Given the description of an element on the screen output the (x, y) to click on. 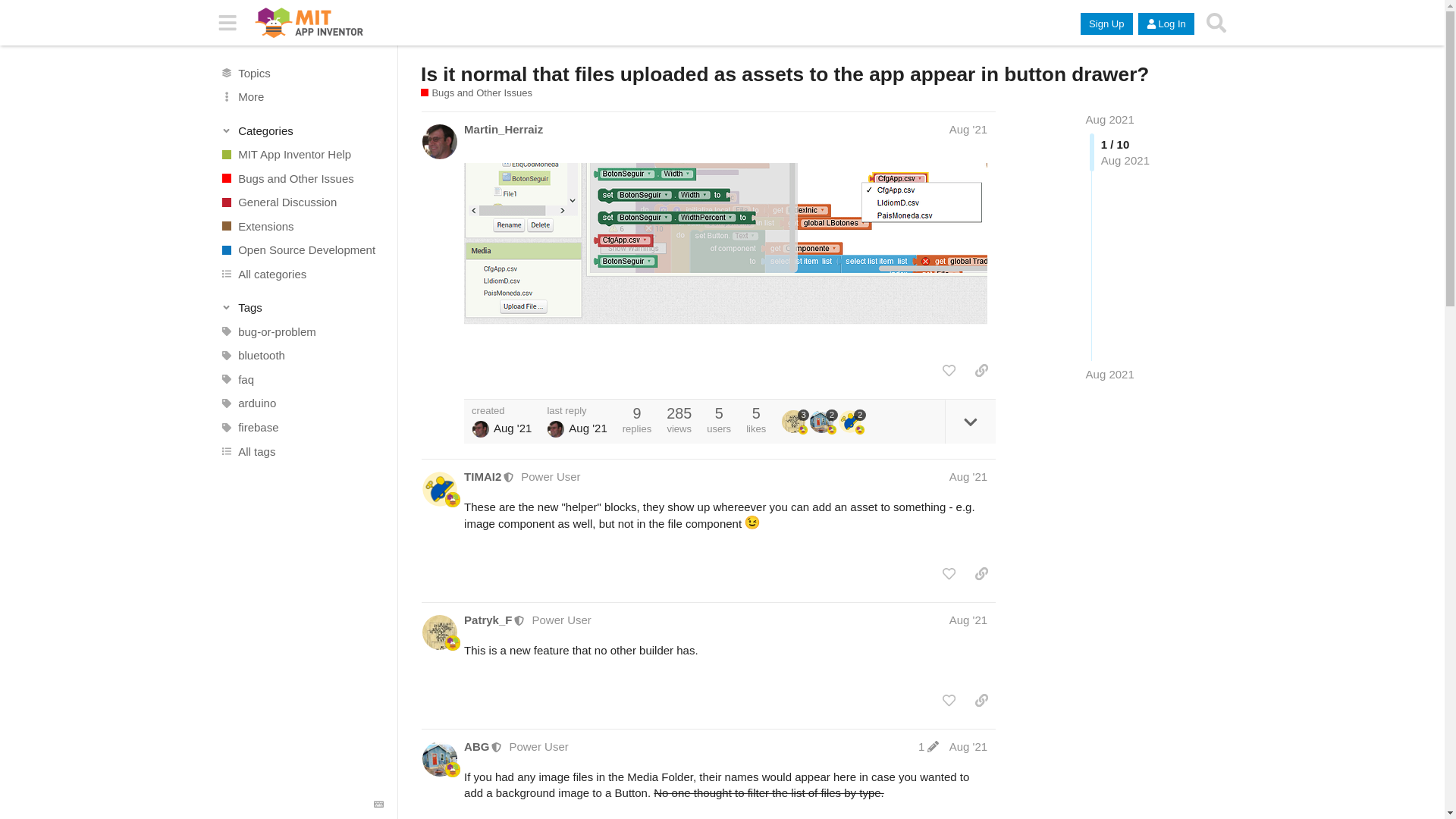
arduino (301, 403)
Open Source Development (301, 250)
Tags (301, 307)
General Discussion (301, 202)
firebase (301, 427)
Search (1215, 22)
Keyboard Shortcuts (378, 805)
Sidebar (227, 22)
Bugs and Other Issues (476, 92)
Topics (301, 72)
